Given the description of an element on the screen output the (x, y) to click on. 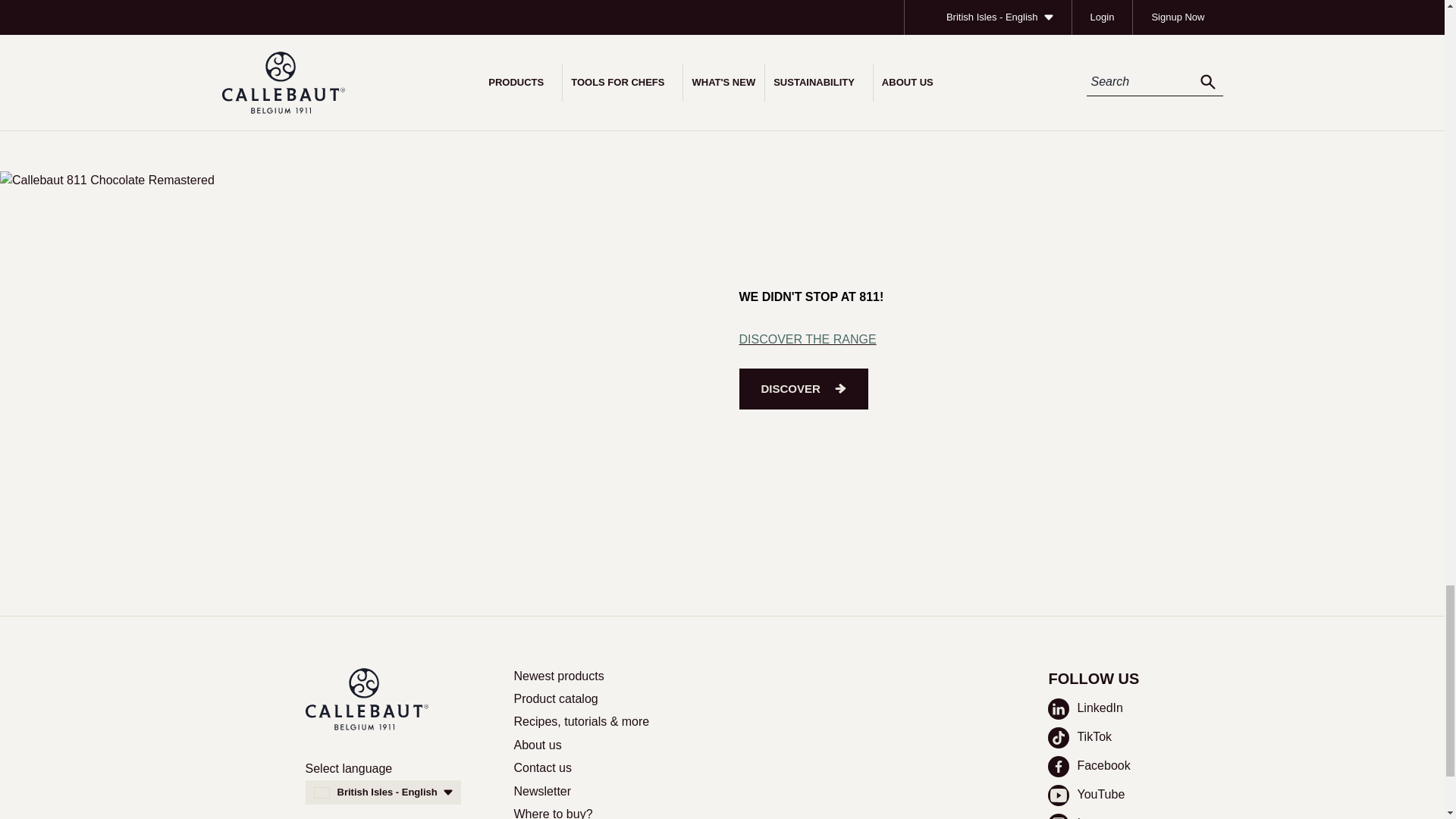
DISCOVER THE RANGE (807, 338)
DISCOVER (802, 388)
Newest products (558, 675)
British Isles - English (382, 792)
About us (537, 744)
Product catalog (555, 698)
Contact us (542, 767)
